Given the description of an element on the screen output the (x, y) to click on. 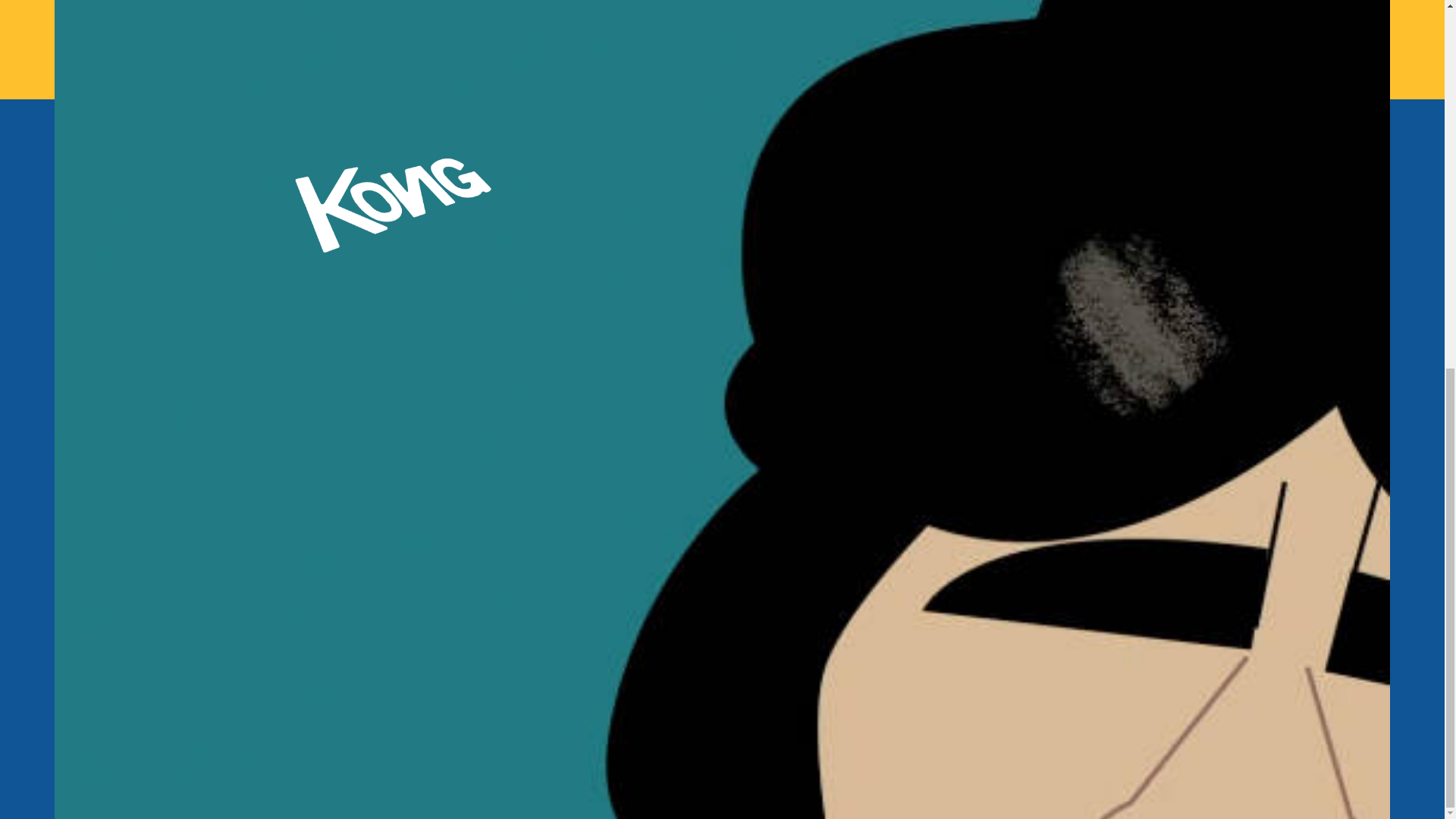
Privacy Policy (559, 781)
Terms and Conditions (481, 781)
Got a brief? Get in touch! (795, 169)
Search for: (436, 704)
